Given the description of an element on the screen output the (x, y) to click on. 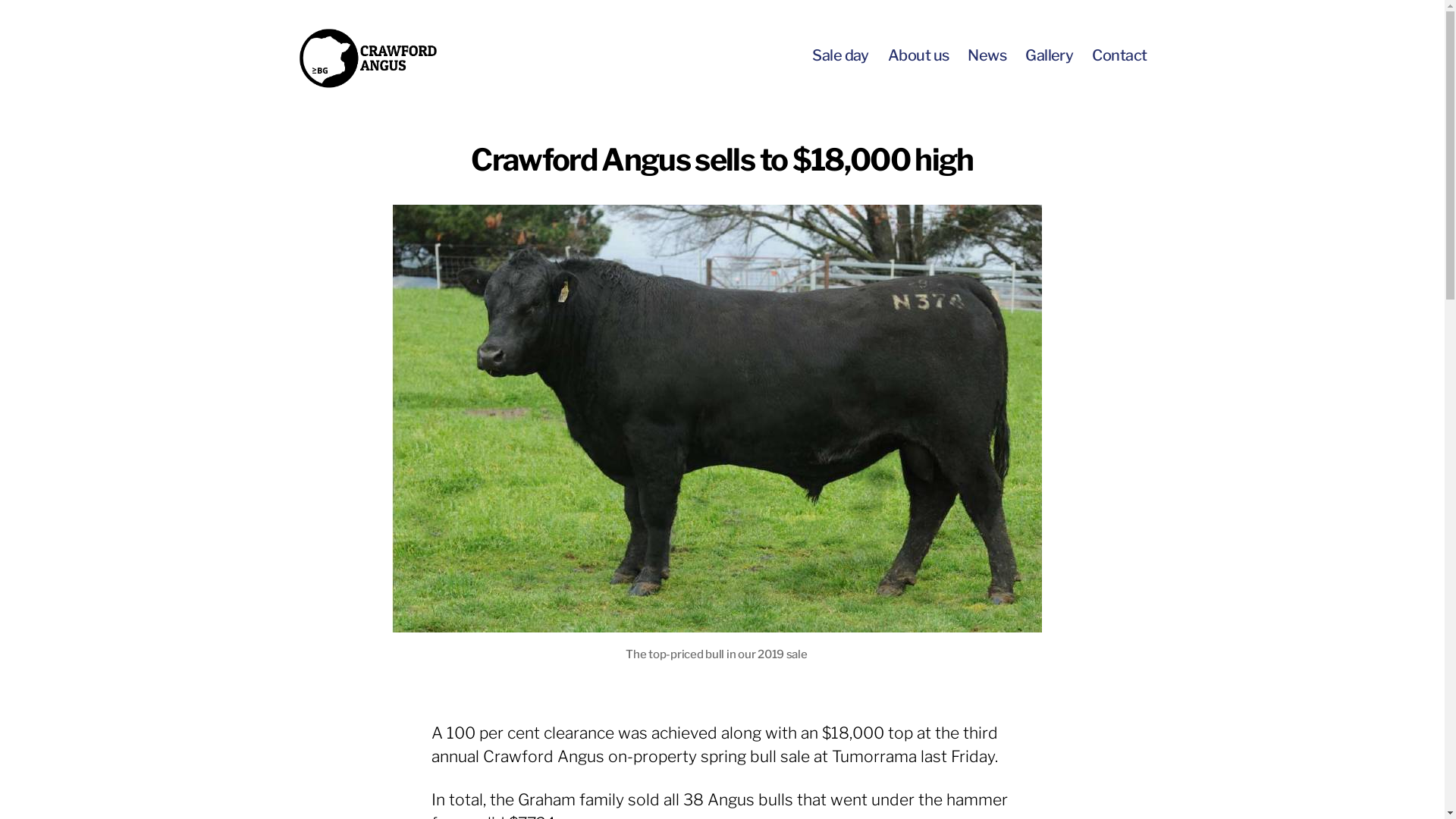
Contact Element type: text (1119, 55)
News Element type: text (986, 55)
About us Element type: text (918, 55)
Sale day Element type: text (840, 55)
Gallery Element type: text (1049, 55)
